Given the description of an element on the screen output the (x, y) to click on. 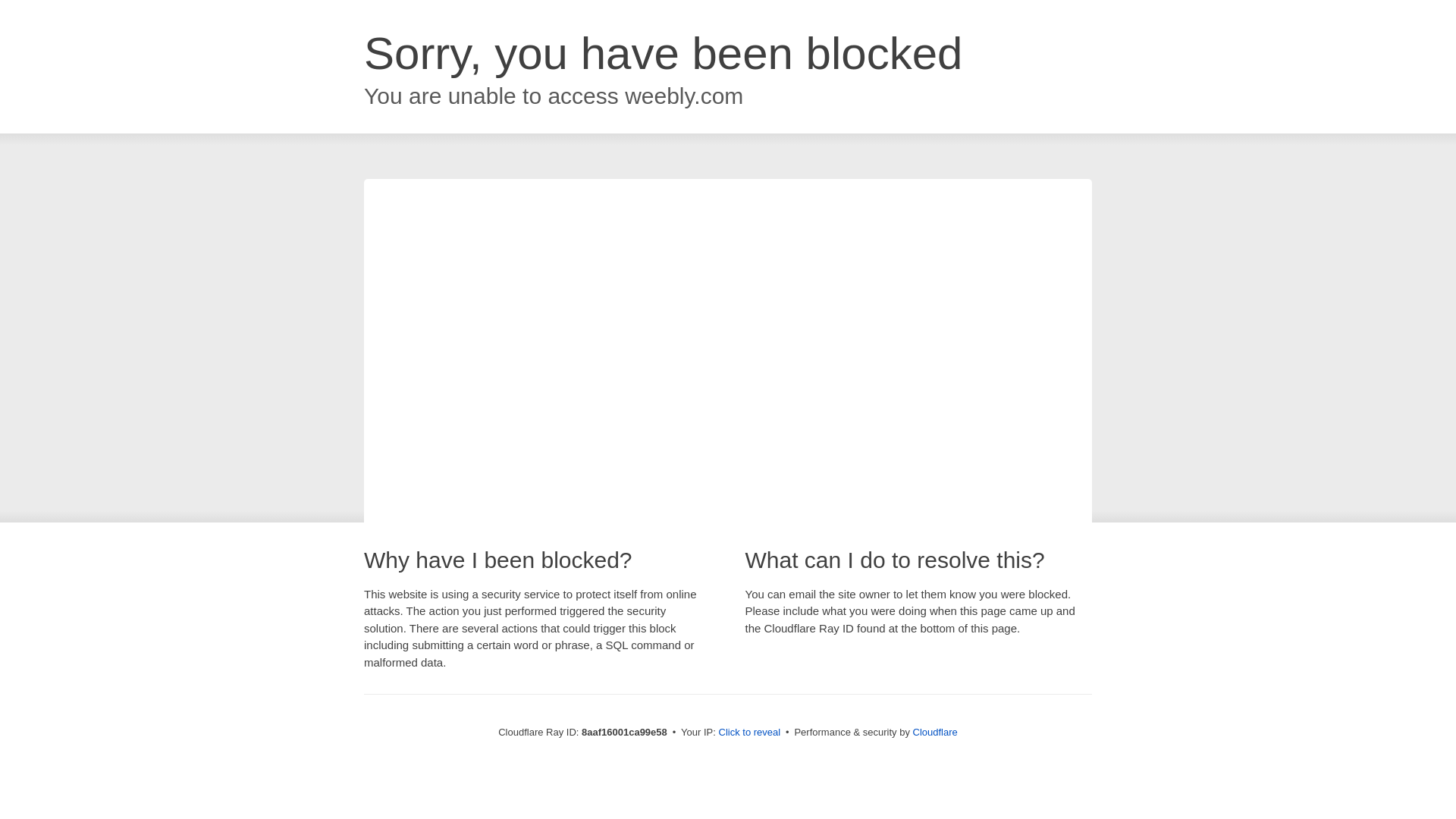
Cloudflare (935, 731)
Click to reveal (749, 732)
